Given the description of an element on the screen output the (x, y) to click on. 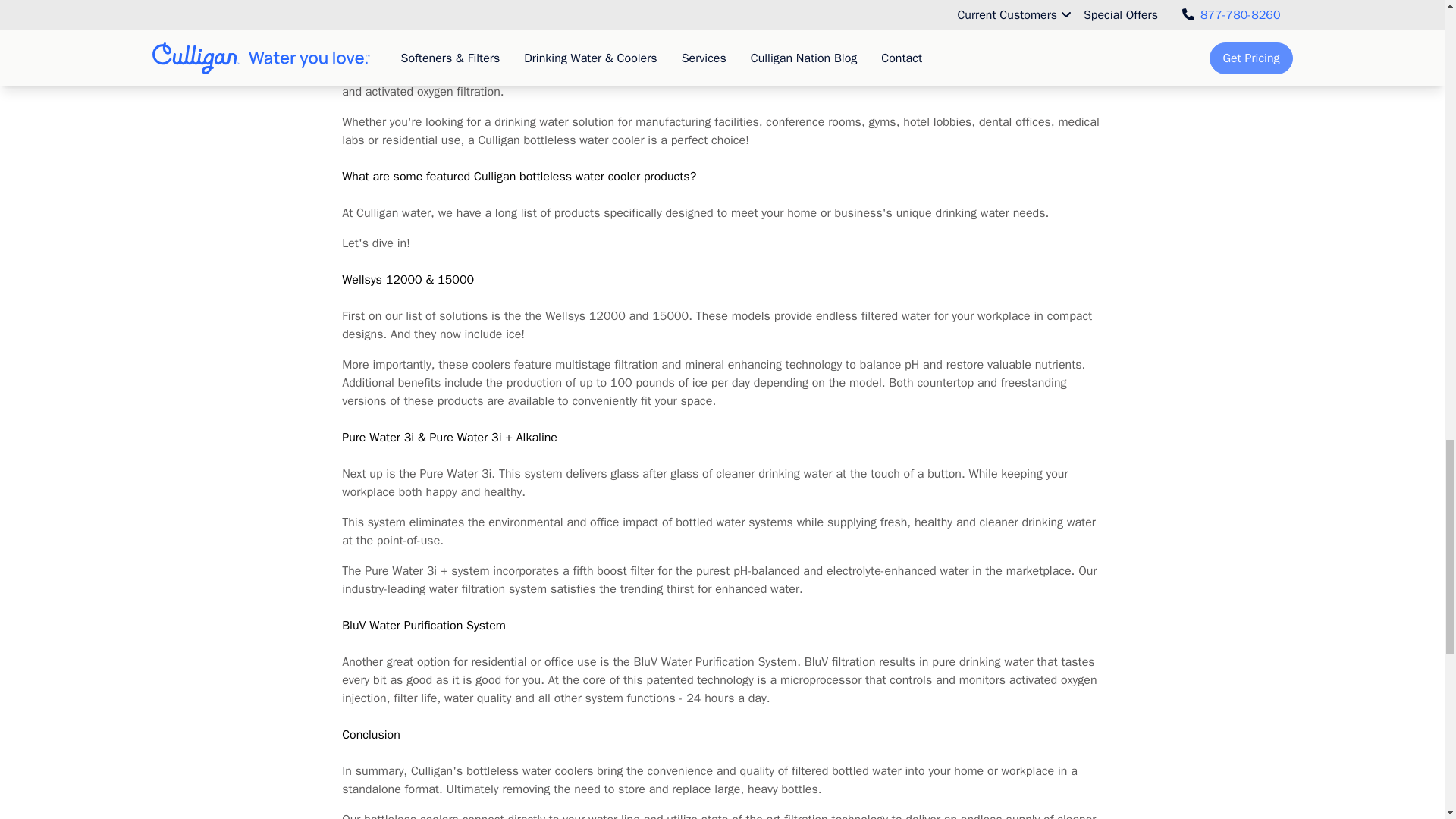
reverse osmosis (1036, 73)
